Given the description of an element on the screen output the (x, y) to click on. 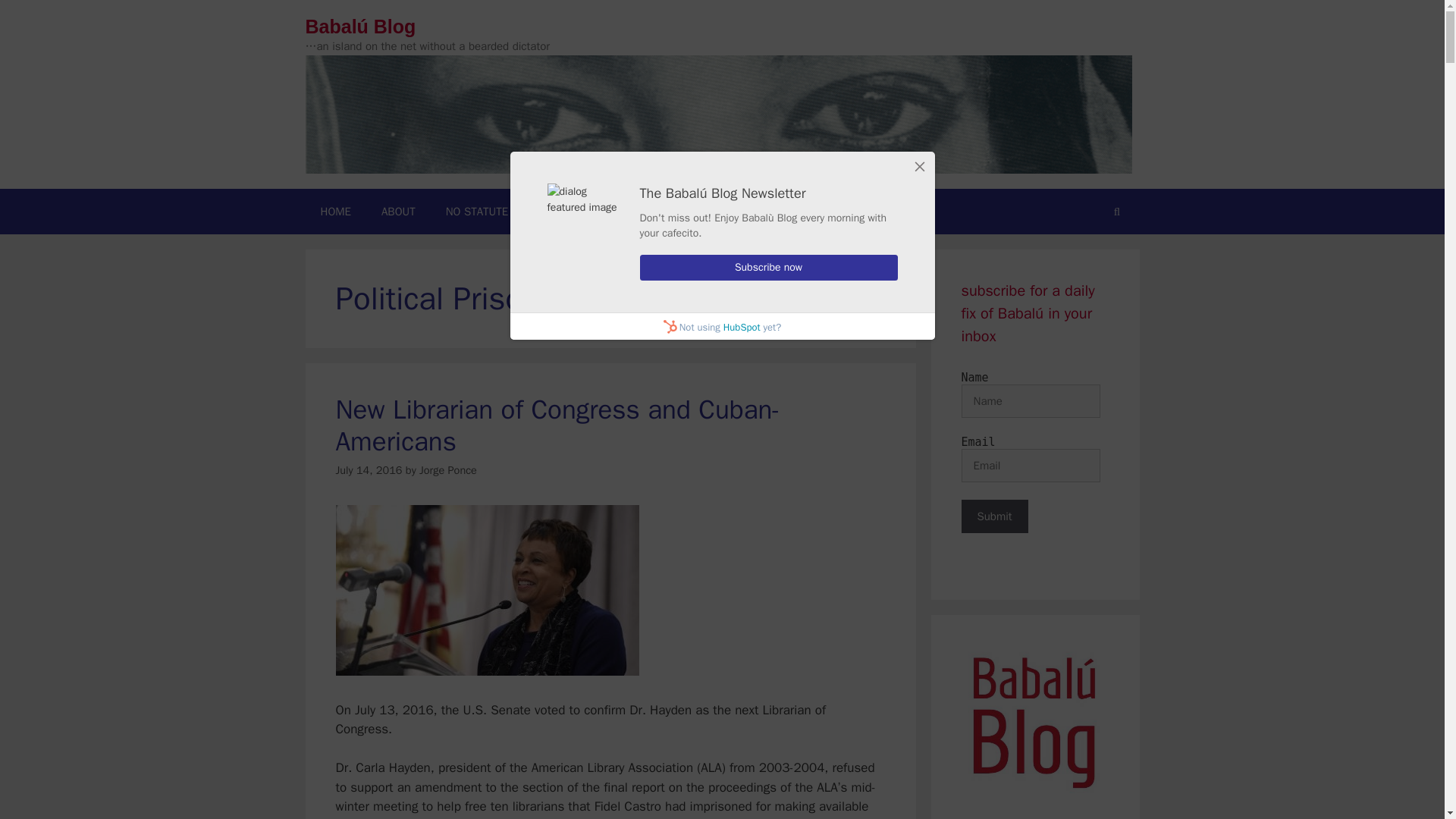
Jorge Ponce (448, 469)
ABOUT (398, 210)
View all posts by Jorge Ponce (448, 469)
Submit (993, 515)
FAIR USE NOTICE (736, 210)
HOME (334, 210)
NO STATUTE OF LIMITATIONS ON FREEDOM (554, 210)
New Librarian of Congress and Cuban-Americans (556, 425)
COMMENTS POLICIES (864, 210)
